Given the description of an element on the screen output the (x, y) to click on. 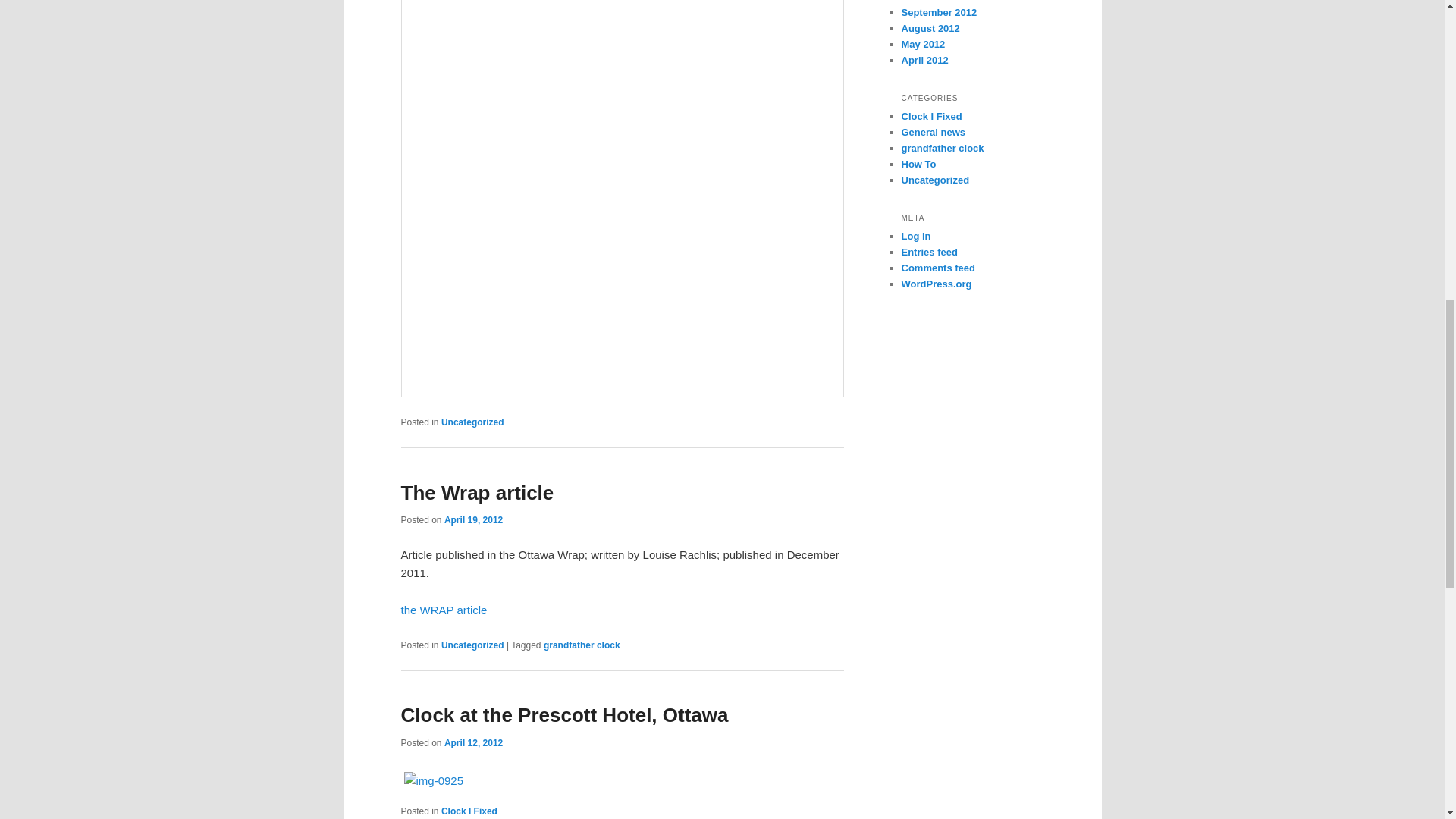
The Wrap article (476, 492)
img-0925 (438, 781)
2:48 pm (473, 520)
Clock at the Prescott Hotel, Ottawa (564, 714)
grandfather clock (581, 644)
April 12, 2012 (473, 742)
the WRAP article (443, 609)
Uncategorized (472, 644)
2-face clock; Preston Hotel, Ottawa (434, 781)
Uncategorized (472, 421)
10:20 am (473, 742)
April 19, 2012 (473, 520)
Clock I Fixed (469, 810)
